Given the description of an element on the screen output the (x, y) to click on. 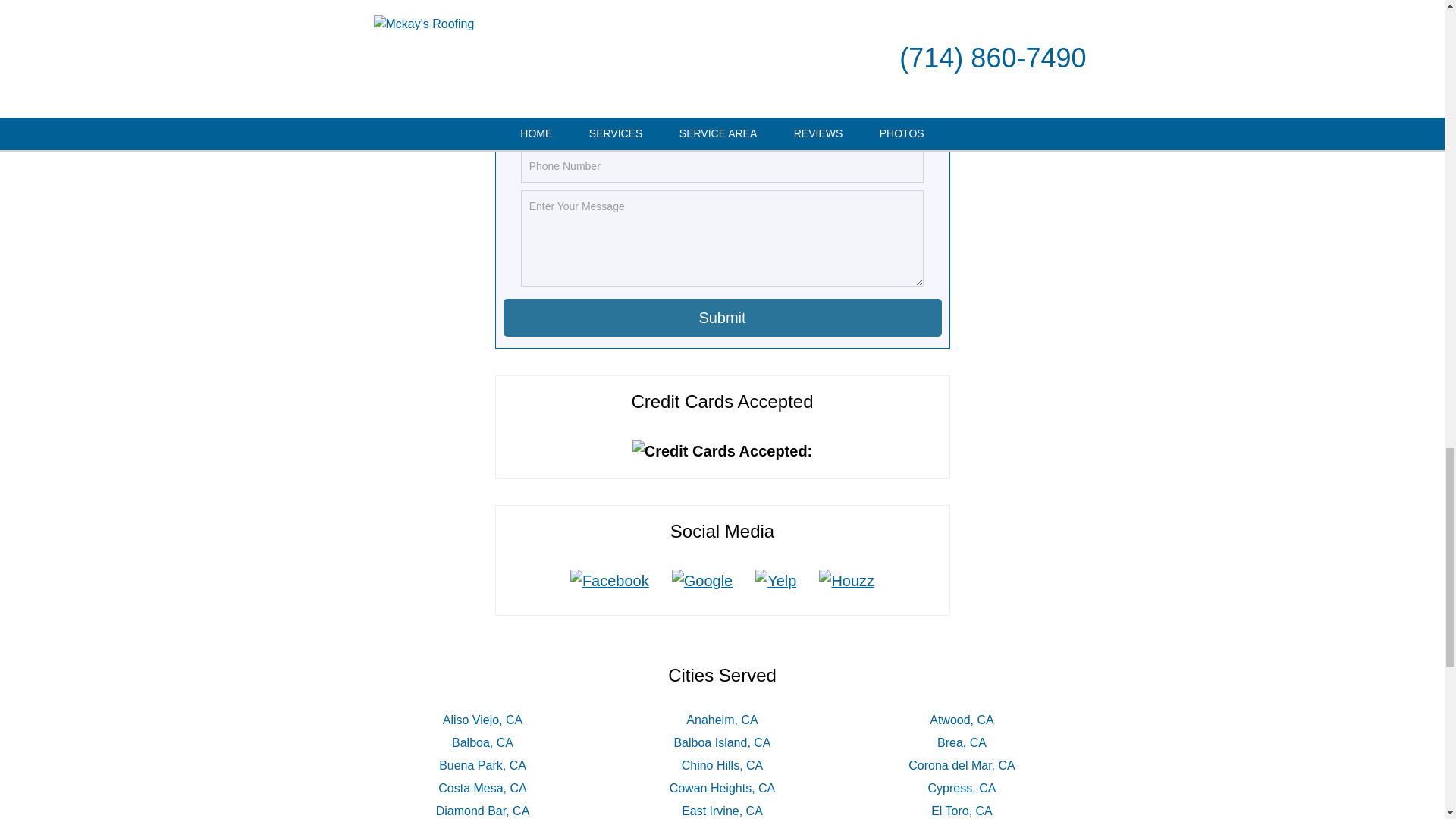
Submit (722, 317)
Brea, CA (962, 742)
Balboa Island, CA (721, 742)
El Toro, CA (961, 810)
Google (702, 580)
Buena Park, CA (482, 765)
Houzz (846, 580)
Balboa, CA (482, 742)
Facebook (610, 580)
Anaheim, CA (721, 719)
Chino Hills, CA (721, 765)
Corona del Mar, CA (961, 765)
Cypress, CA (961, 788)
Costa Mesa, CA (481, 788)
Cowan Heights, CA (722, 788)
